Given the description of an element on the screen output the (x, y) to click on. 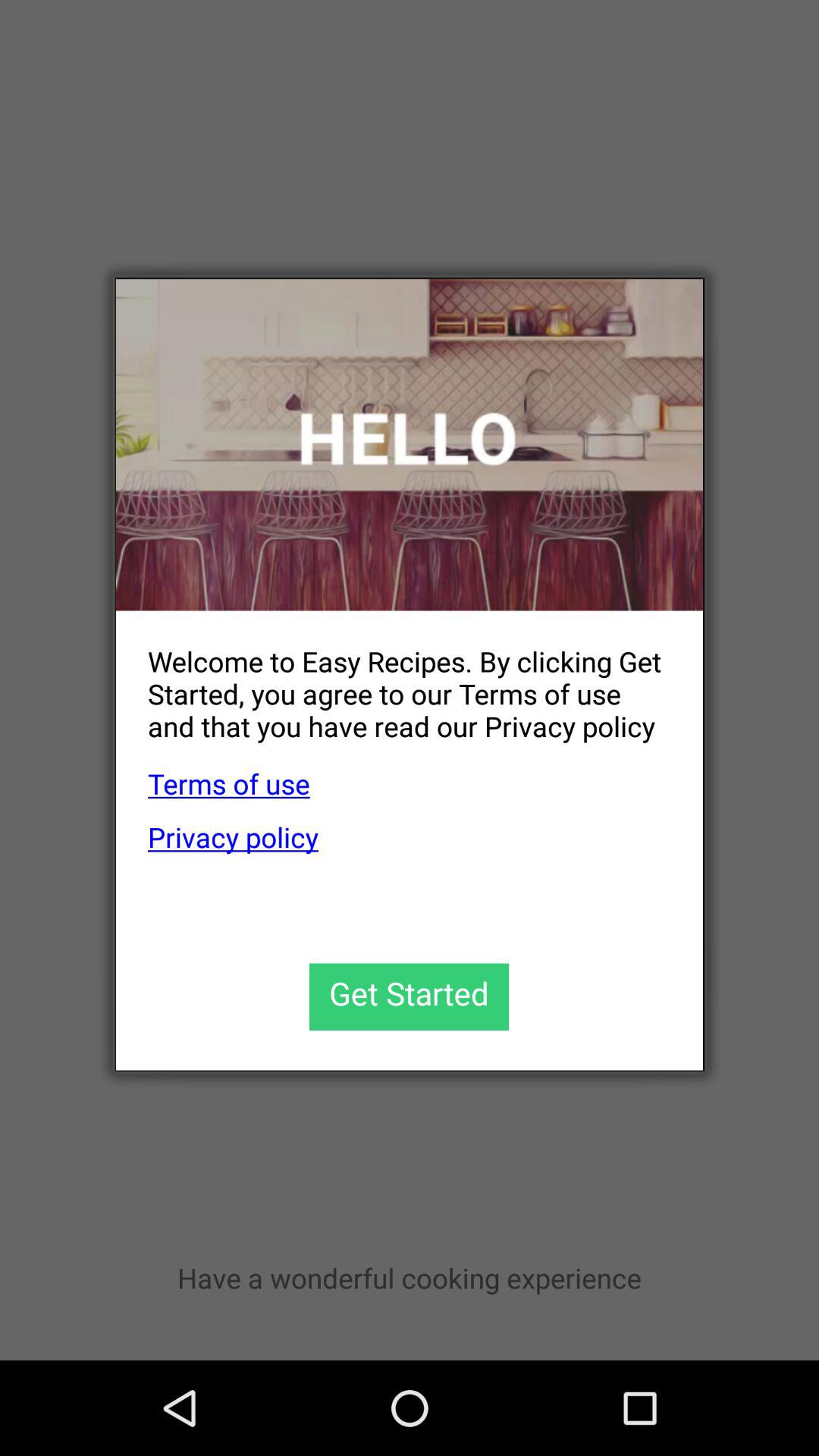
tap the item above terms of use item (393, 681)
